Given the description of an element on the screen output the (x, y) to click on. 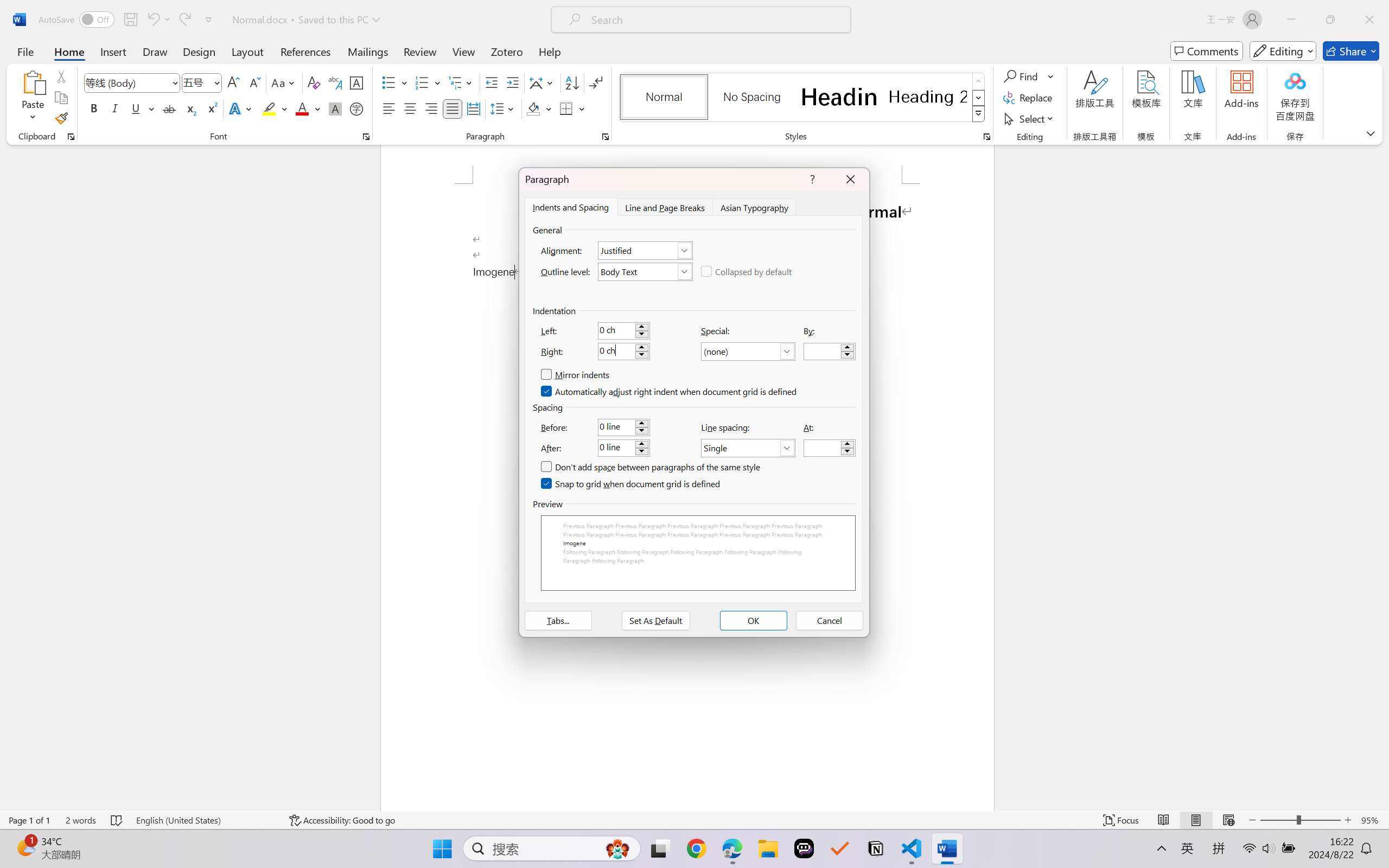
Class: NetUIScrollBar (1382, 477)
Left: (623, 330)
Asian Layout (542, 82)
Justify (452, 108)
By: (829, 351)
Clear Formatting (313, 82)
After: (623, 447)
Font Color RGB(255, 0, 0) (302, 108)
